Given the description of an element on the screen output the (x, y) to click on. 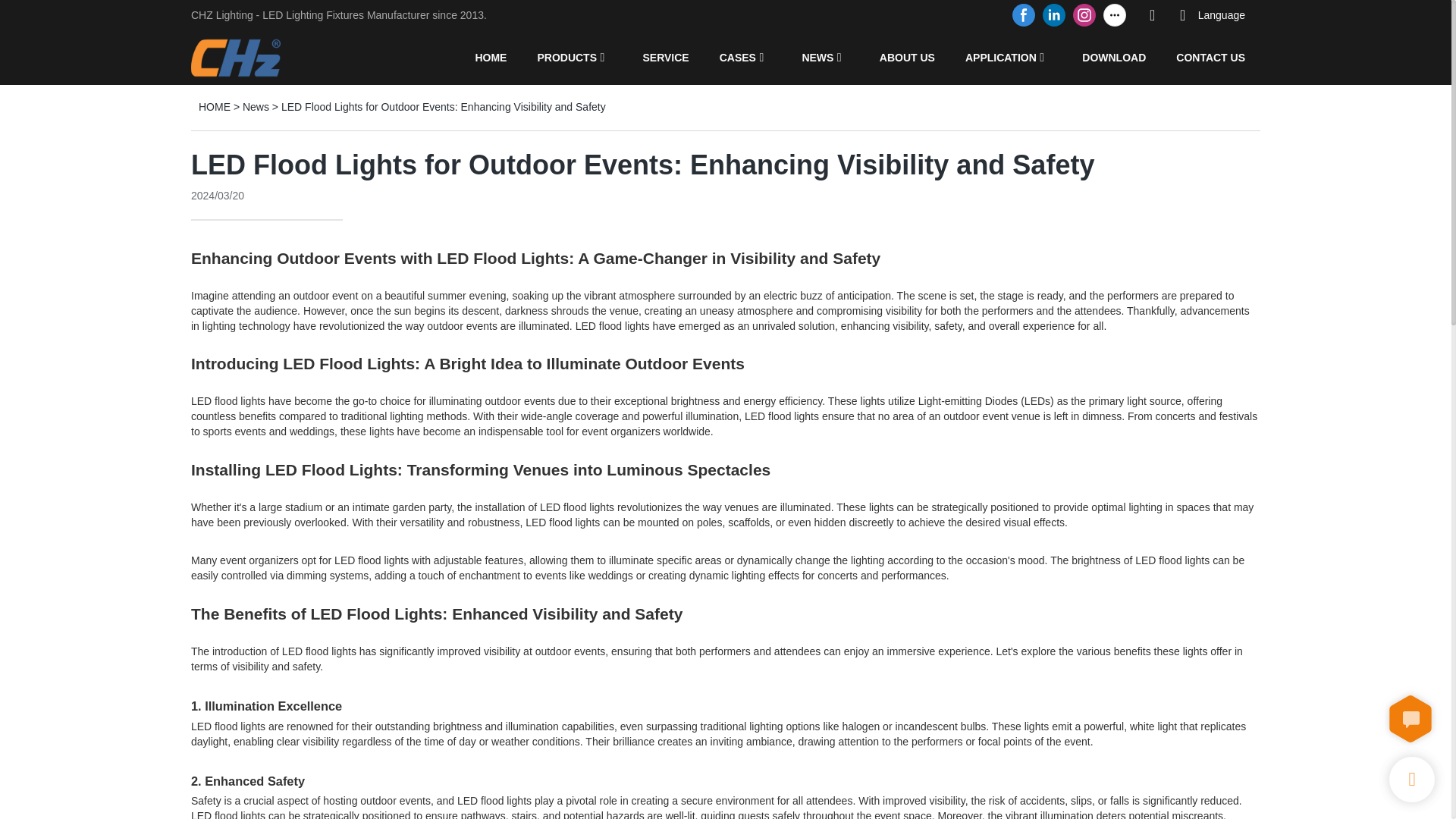
SERVICE (665, 57)
HOME (214, 106)
News (256, 106)
instagram (1083, 15)
HOME (490, 57)
linkedin (1053, 15)
CONTACT US (1210, 57)
PRODUCTS (566, 57)
facebook (1024, 15)
ABOUT US (906, 57)
APPLICATION (1000, 57)
NEWS (817, 57)
DOWNLOAD (1113, 57)
CASES (737, 57)
